Given the description of an element on the screen output the (x, y) to click on. 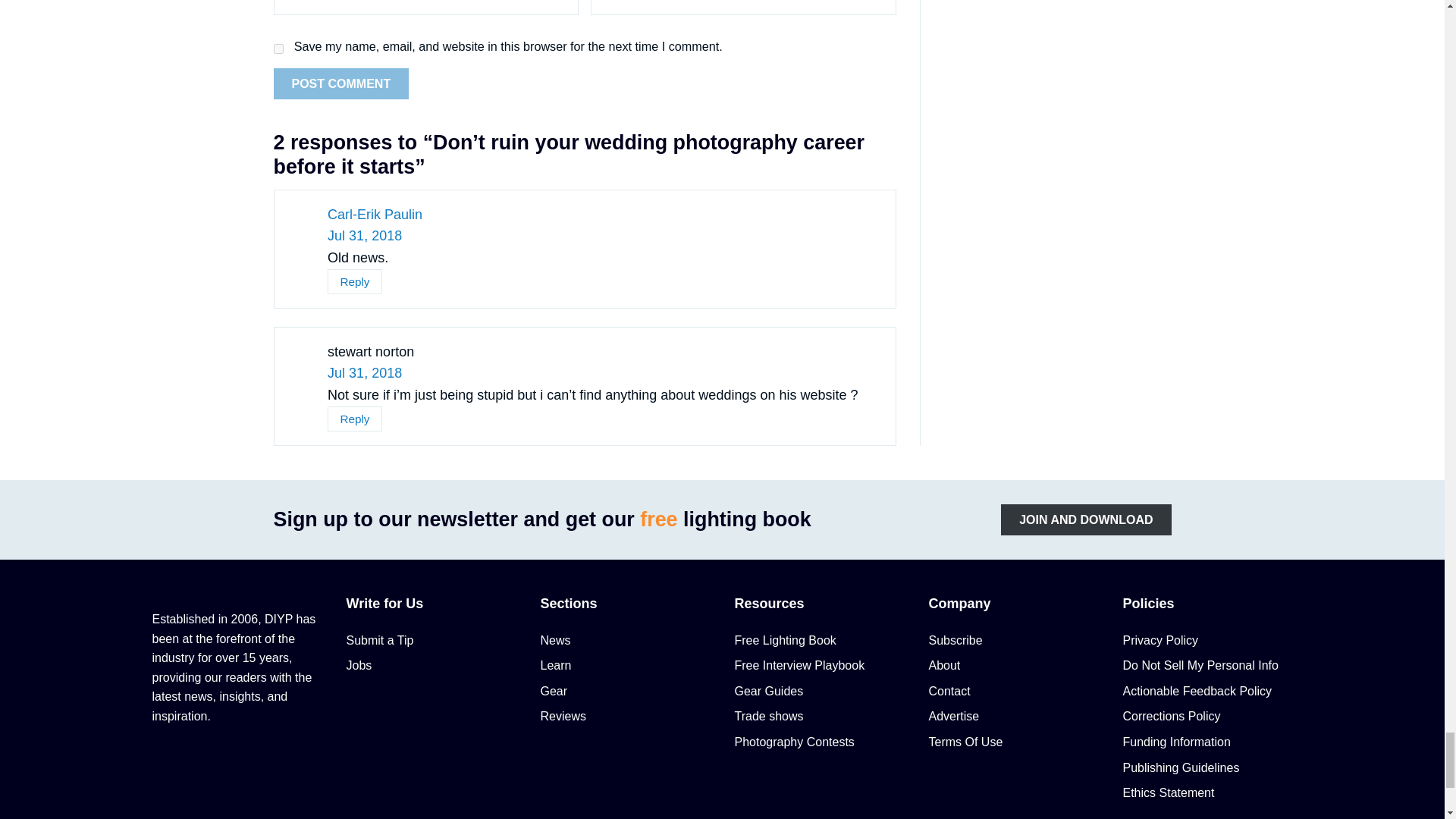
yes (277, 49)
Post Comment (341, 83)
